Given the description of an element on the screen output the (x, y) to click on. 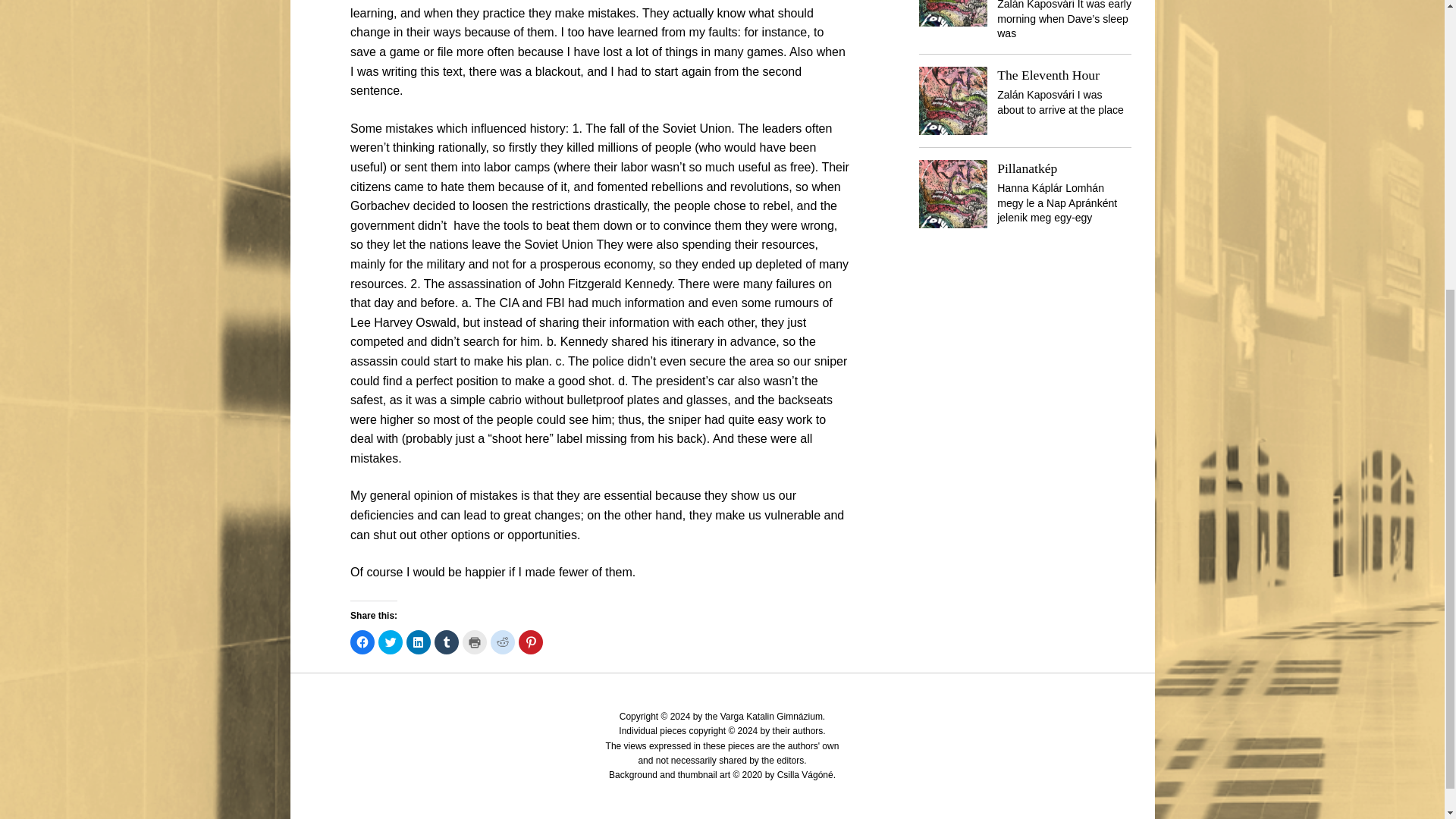
The Eleventh Hour (1048, 74)
Click to share on Twitter (390, 641)
Click to share on Tumblr (445, 641)
Click to share on Pinterest (530, 641)
Click to share on Facebook (362, 641)
Click to share on Reddit (502, 641)
Click to share on LinkedIn (418, 641)
Click to print (474, 641)
